Given the description of an element on the screen output the (x, y) to click on. 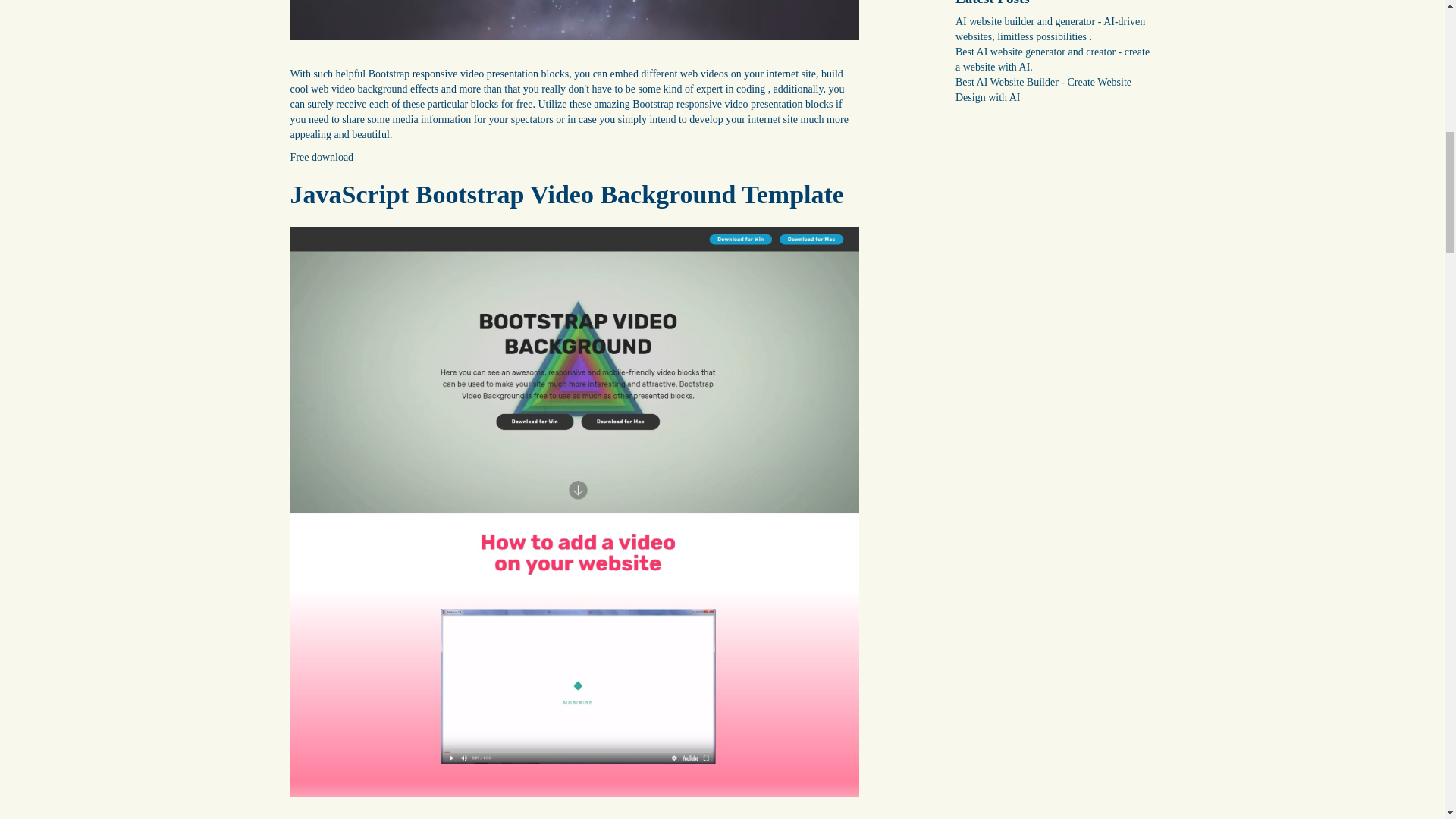
Free download (321, 156)
